Given the description of an element on the screen output the (x, y) to click on. 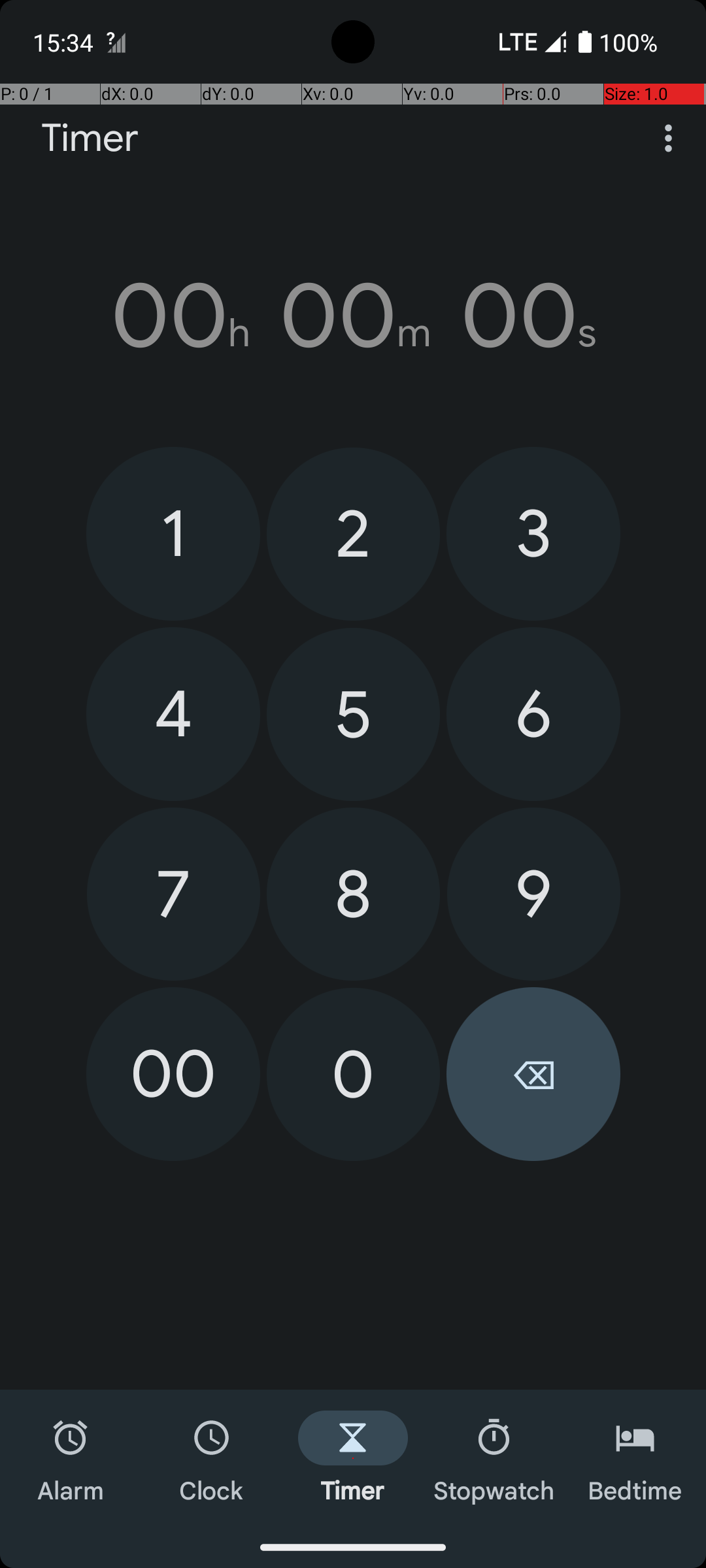
Android System notification: Sign in to network Element type: android.widget.ImageView (115, 41)
